Given the description of an element on the screen output the (x, y) to click on. 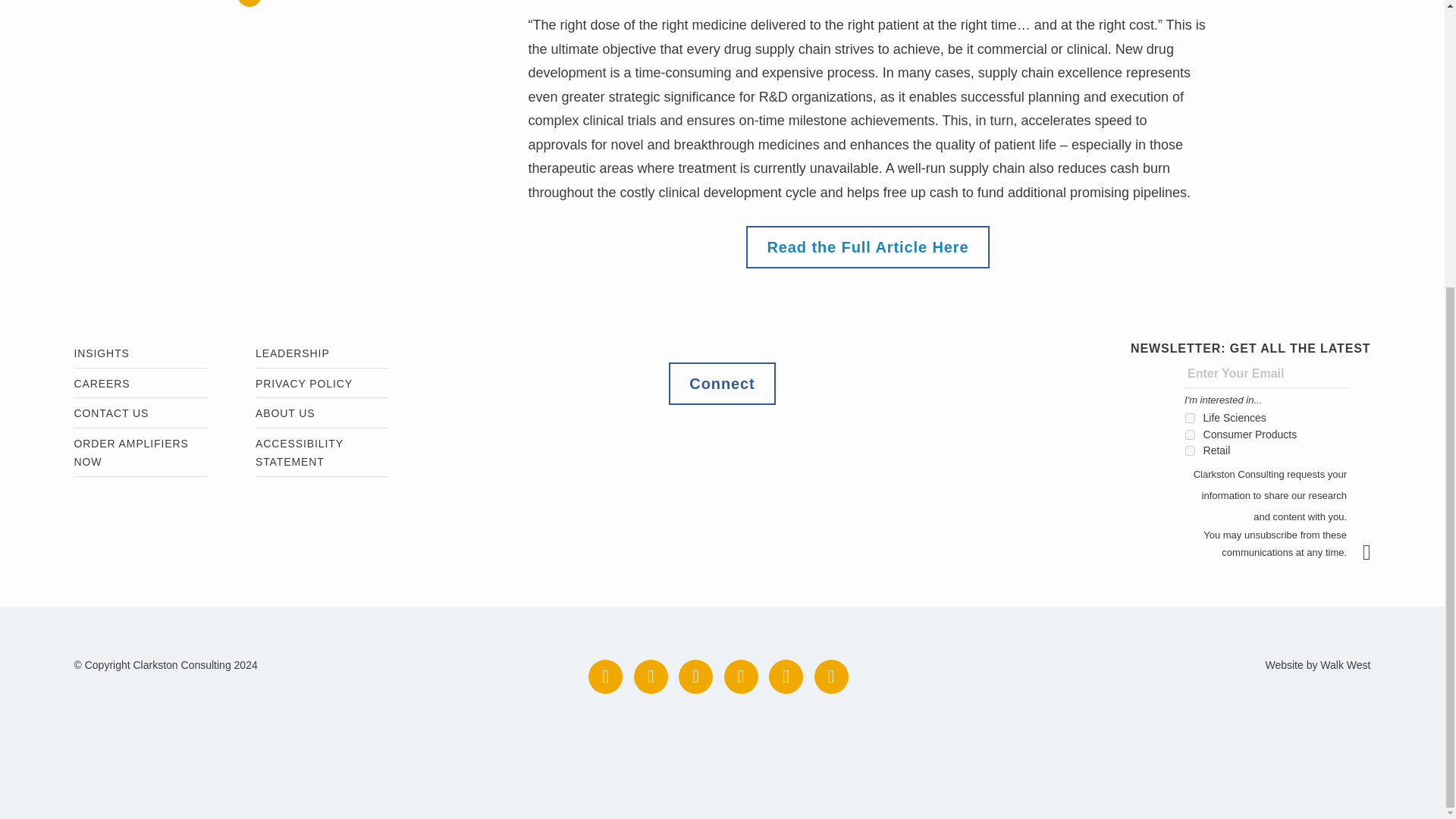
Life Sciences (1190, 418)
Consumer Products and Retail (1190, 434)
Submit (1374, 551)
Retail Industry (1190, 450)
